Given the description of an element on the screen output the (x, y) to click on. 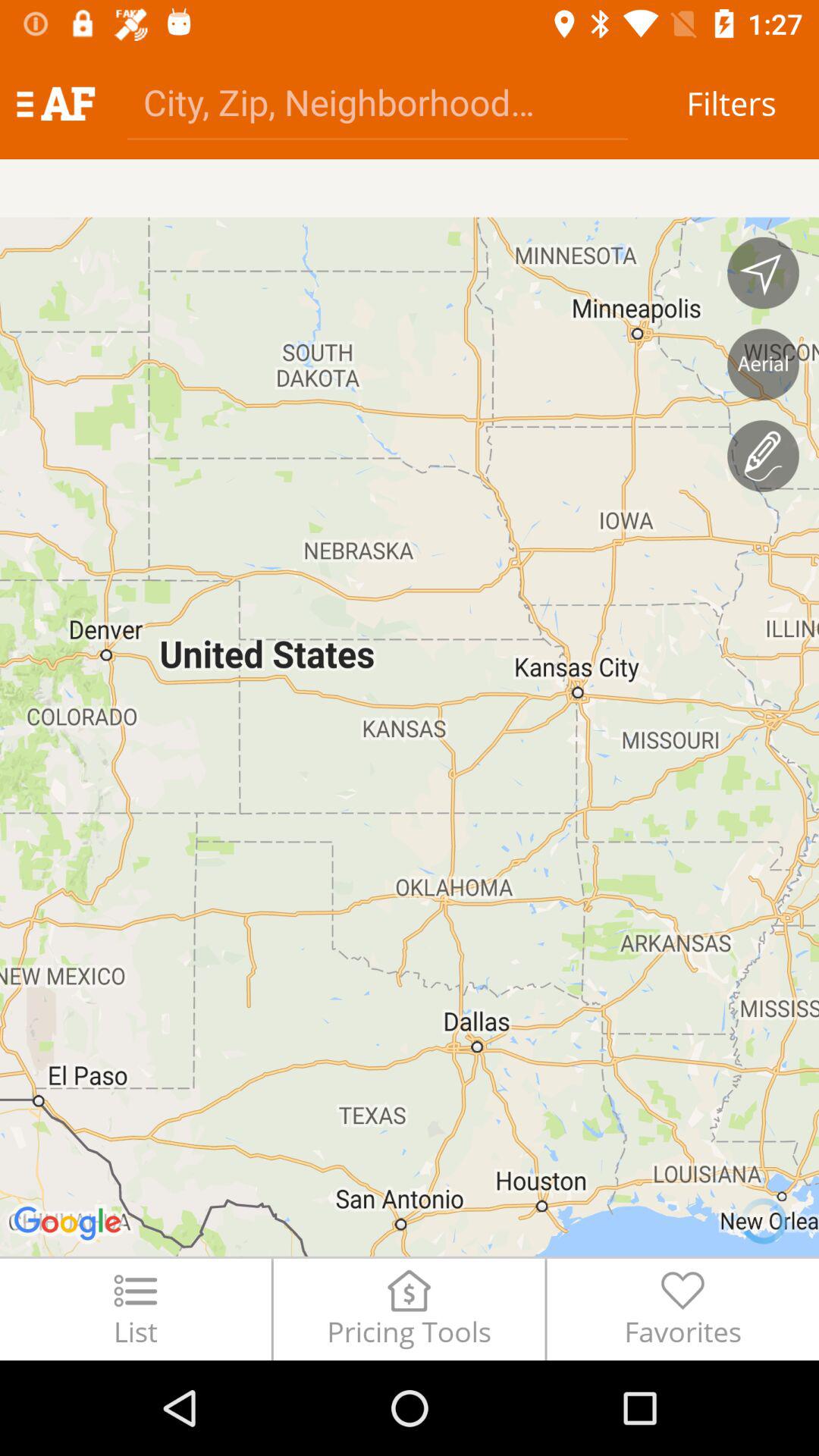
press item next to the favorites icon (408, 1309)
